Given the description of an element on the screen output the (x, y) to click on. 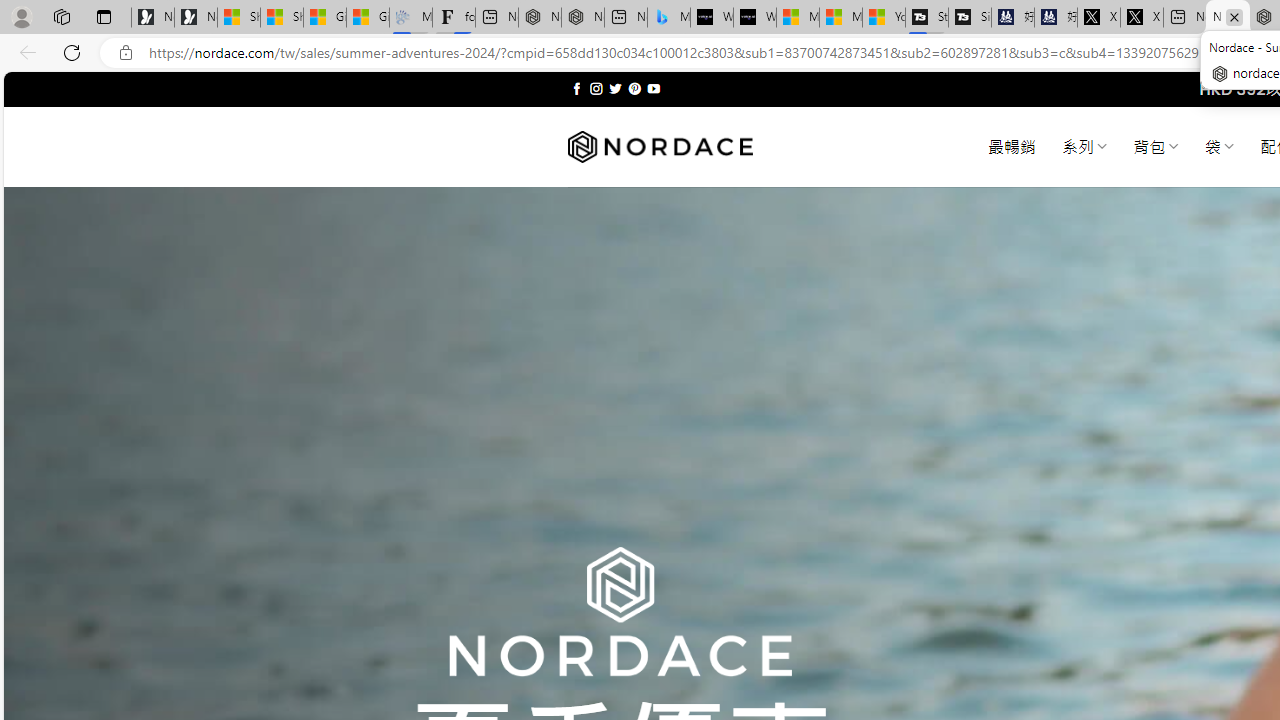
Newsletter Sign Up (196, 17)
Gilma and Hector both pose tropical trouble for Hawaii (367, 17)
Follow on Facebook (576, 88)
